Given the description of an element on the screen output the (x, y) to click on. 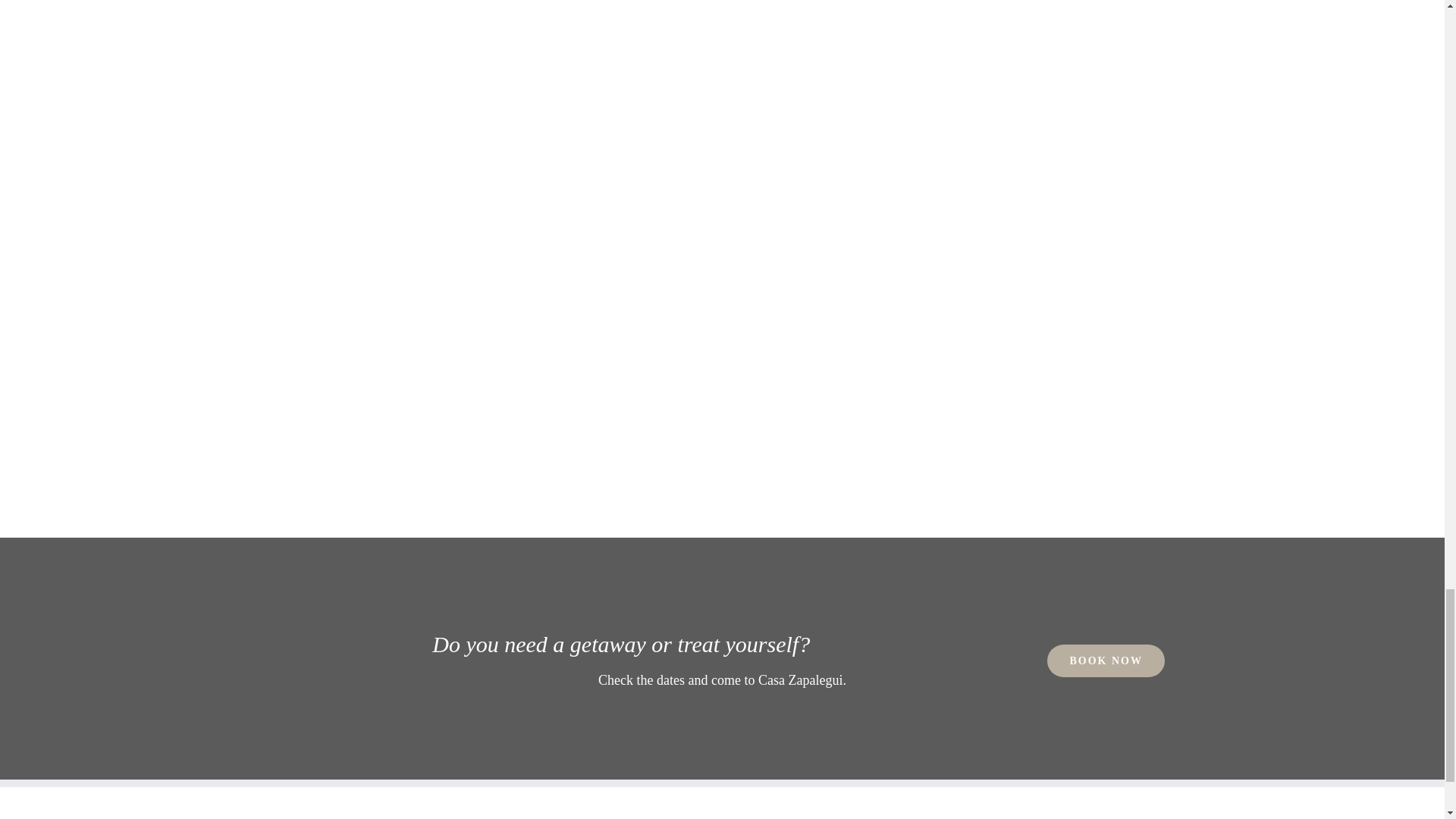
BOOK NOW (1105, 660)
